Given the description of an element on the screen output the (x, y) to click on. 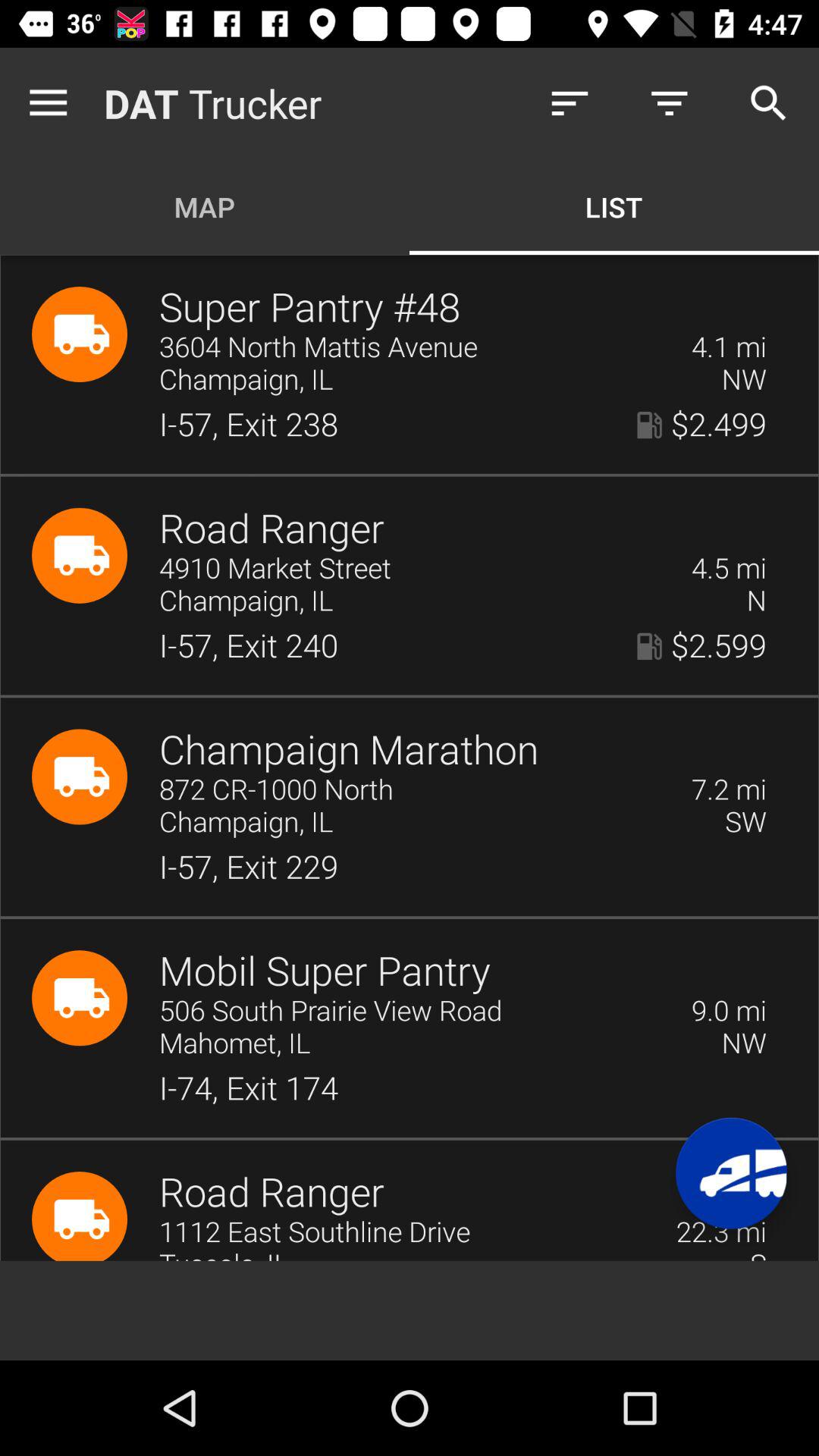
press the icon below the 1112 east southline (444, 1254)
